Given the description of an element on the screen output the (x, y) to click on. 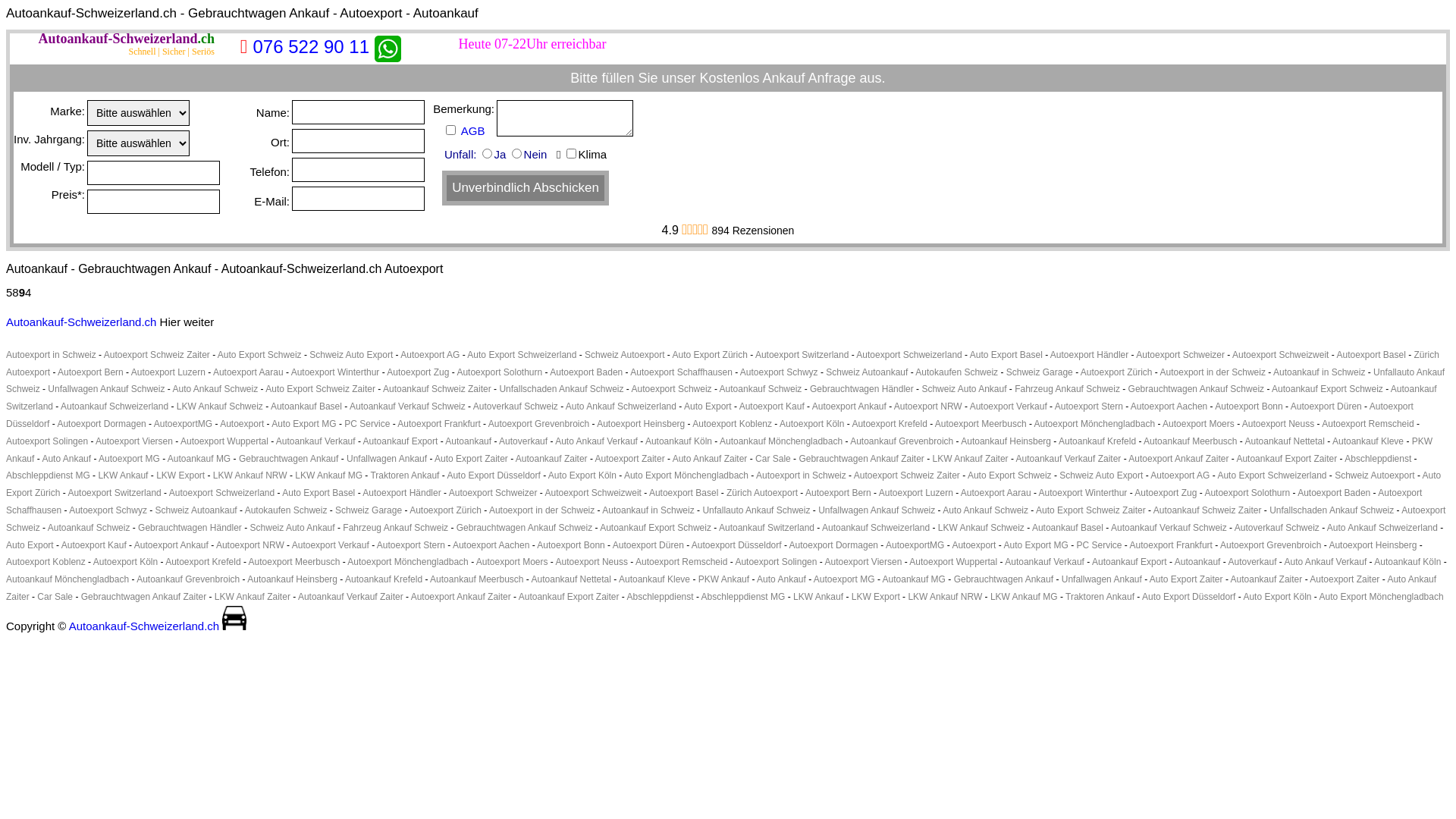
Autoankauf Switzerland Element type: text (766, 527)
Auto Ankauf Schweiz Element type: text (214, 388)
Autoexport Krefeld Element type: text (888, 423)
Schweiz Auto Ankauf Element type: text (292, 527)
Autoexport Switzerland Element type: text (801, 354)
Car Sale Element type: text (54, 596)
Schweiz Autoankauf Element type: text (866, 372)
Autoexport Schweiz Element type: text (671, 388)
LKW Ankauf Element type: text (122, 475)
Auto Export Basel Element type: text (1005, 354)
Autoexport Schweizer Element type: text (1179, 354)
Autoexport Remscheid Element type: text (1367, 423)
Autoankauf Nettetal Element type: text (571, 579)
Autoexport Switzerland Element type: text (113, 492)
Auto Export Zaiter Element type: text (1186, 579)
Autoexport Ankauf Element type: text (849, 406)
Autoankauf Verkauf Zaiter Element type: text (350, 596)
Autoexport NRW Element type: text (250, 544)
Autoankauf Element type: text (468, 441)
Schweiz Autoankauf Element type: text (196, 510)
Car Sale Element type: text (772, 458)
Autoexport Element type: text (241, 423)
Autoankauf Export Element type: text (1129, 561)
Autoexport Kauf Element type: text (771, 406)
Auto Ankauf Schweiz Element type: text (985, 510)
Autoexport Winterthur Element type: text (335, 372)
Autoexport Schweizer Element type: text (492, 492)
LKW Export Element type: text (180, 475)
Autoexport Aarau Element type: text (995, 492)
Autoexport Schaffhausen Element type: text (681, 372)
Autoankauf Kleve Element type: text (654, 579)
LKW Ankauf NRW Element type: text (250, 475)
Auto Export Basel Element type: text (318, 492)
Auto Ankauf Zaiter Element type: text (709, 458)
LKW Ankauf Schweiz Element type: text (219, 406)
Autoexport Baden Element type: text (1333, 492)
Autoverkauf Element type: text (522, 441)
Autoankauf Meerbusch Element type: text (1189, 441)
LKW Ankauf MG Element type: text (1023, 596)
Schweiz Auto Ankauf Element type: text (963, 388)
Auto Ankauf Element type: text (66, 458)
Auto Export Schweiz Element type: text (259, 354)
Autoankauf Schweiz Element type: text (760, 388)
Autoankauf Export Zaiter Element type: text (568, 596)
Autoankauf Export Zaiter Element type: text (1286, 458)
Autoexport Schweiz Zaiter Element type: text (906, 475)
Autoankauf Verkauf Element type: text (315, 441)
Autoexport Bonn Element type: text (570, 544)
PKW Ankauf Element type: text (719, 450)
Autoankauf Heinsberg Element type: text (1005, 441)
Auto Export Element type: text (29, 544)
LKW Ankauf NRW Element type: text (944, 596)
Autoankauf Meerbusch Element type: text (476, 579)
Autoexport Koblenz Element type: text (45, 561)
Autoexport Verkauf Element type: text (330, 544)
Autoexport Element type: text (973, 544)
Autoexport Aarau Element type: text (248, 372)
Autoexport in der Schweiz Element type: text (541, 510)
Auto Export Schweiz Zaiter Element type: text (320, 388)
Unfallschaden Ankauf Schweiz Element type: text (1331, 510)
Autoankauf Verkauf Element type: text (1044, 561)
Gebrauchtwagen Ankauf Element type: text (288, 458)
Autoexport Solothurn Element type: text (1246, 492)
Autoankauf Verkauf Zaiter Element type: text (1068, 458)
Autoankauf Export Element type: text (400, 441)
Autoankauf Schweizerland Element type: text (875, 527)
Auto Export Zaiter Element type: text (471, 458)
Autoankauf-Schweizerland.ch Element type: text (81, 321)
Unfallwagen Ankauf Schweiz Element type: text (105, 388)
Auto Ankauf Verkauf Element type: text (596, 441)
Autoexport Schweiz Element type: text (725, 519)
Autoexport Wuppertal Element type: text (953, 561)
Autoverkauf Element type: text (1251, 561)
Autoexport Neuss Element type: text (591, 561)
Autoankauf Schweiz Zaiter Element type: text (1207, 510)
Auto Ankauf Schweizerland Element type: text (1382, 527)
Schweiz Auto Export Element type: text (350, 354)
Autoankauf Kleve Element type: text (1367, 441)
Autoexport Frankfurt Element type: text (438, 423)
Autoankauf Krefeld Element type: text (383, 579)
Autoexport Stern Element type: text (410, 544)
PKW Ankauf Element type: text (723, 579)
Autoexport Schweizerland Element type: text (221, 492)
Autoexport in Schweiz Element type: text (801, 475)
Gebrauchtwagen Ankauf Schweiz Element type: text (524, 527)
Autoexport Solothurn Element type: text (499, 372)
AutoexportMG Element type: text (182, 423)
Autoankauf MG Element type: text (913, 579)
Autoexport Viersen Element type: text (133, 441)
Autoankauf Zaiter Element type: text (1266, 579)
Unfallwagen Ankauf Schweiz Element type: text (876, 510)
Schweiz Autoexport Element type: text (1374, 475)
Autoexport Viersen Element type: text (862, 561)
Autoankauf in Schweiz Element type: text (1319, 372)
Auto Ankauf Schweizerland Element type: text (620, 406)
Unfallauto Ankauf Schweiz Element type: text (725, 381)
Auto Export Schweiz Zaiter Element type: text (1090, 510)
Autoverkauf Schweiz Element type: text (515, 406)
Autoexport Schweizweit Element type: text (1280, 354)
Autoexport Winterthur Element type: text (1082, 492)
Autoexport Ankauf Zaiter Element type: text (461, 596)
Auto Ankauf Verkauf Element type: text (1325, 561)
Autoankauf Schweiz Element type: hover (234, 617)
Autoankauf in Schweiz Element type: text (647, 510)
Autoexport Meerbusch Element type: text (294, 561)
Schweiz Garage Element type: text (368, 510)
Autoankauf-Schweizerland.ch Element type: text (144, 625)
Autoankauf Element type: text (1197, 561)
Autoexport Aachen Element type: text (1168, 406)
Autoexport Schweizerland Element type: text (908, 354)
Schweiz Garage Element type: text (1039, 372)
Autoankauf Schweiz Zaiter Element type: text (436, 388)
Abschleppdienst Element type: text (1377, 458)
Autoankauf Heinsberg Element type: text (292, 579)
Autoankauf Basel Element type: text (1067, 527)
Autoexport Moers Element type: text (512, 561)
Autoankauf Schweizerland Element type: text (114, 406)
Fahrzeug Ankauf Schweiz Element type: text (395, 527)
Autoexport Schaffhausen Element type: text (713, 501)
Autoexport Solingen Element type: text (775, 561)
Autoexport in Schweiz Element type: text (51, 354)
LKW Ankauf Schweiz Element type: text (981, 527)
Autoexport Kauf Element type: text (93, 544)
Autoankauf Export Schweiz Element type: text (655, 527)
Autoankauf Krefeld Element type: text (1096, 441)
Autoverkauf Schweiz Element type: text (1276, 527)
PC Service Element type: text (1099, 544)
Autoexport Bonn Element type: text (1248, 406)
Autoexport Aachen Element type: text (490, 544)
Schweiz Auto Export Element type: text (1100, 475)
Autoexport Schweiz Zaiter Element type: text (156, 354)
Auto Export MG Element type: text (303, 423)
LKW Ankauf Element type: text (818, 596)
AutoexportMG Element type: text (914, 544)
Autoankauf Verkauf Schweiz Element type: text (407, 406)
Autoankauf Grevenbroich Element type: text (901, 441)
Autoexport Heinsberg Element type: text (640, 423)
PC Service Element type: text (366, 423)
Autoankauf Zaiter Element type: text (551, 458)
Autoexport Zaiter Element type: text (1344, 579)
Auto Ankauf Zaiter Element type: text (721, 588)
Autoexport Luzern Element type: text (168, 372)
Autoexport Ankauf Element type: text (171, 544)
Autoexport MG Element type: text (844, 579)
Autoexport Basel Element type: text (683, 492)
Autoexport Stern Element type: text (1088, 406)
Autoexport AG Element type: text (1179, 475)
Auto Export Schweiz Element type: text (1009, 475)
Traktoren Ankauf Element type: text (404, 475)
Autoexport in der Schweiz Element type: text (1212, 372)
Autoexport Dormagen Element type: text (100, 423)
Autoexport Verkauf Element type: text (1008, 406)
AGB    Element type: text (476, 130)
Unfallwagen Ankauf Element type: text (1101, 579)
Autoexport Grevenbroich Element type: text (538, 423)
Autoankauf Export Schweiz Element type: text (1327, 388)
Autoexport Basel Element type: text (1370, 354)
Autoexport NRW Element type: text (928, 406)
Autoankauf Nettetal Element type: text (1284, 441)
LKW Ankauf Zaiter Element type: text (252, 596)
Unfallauto Ankauf Schweiz Element type: text (755, 510)
Autoexport Zaiter Element type: text (630, 458)
Autoexport Dormagen Element type: text (833, 544)
Autoexport Ankauf Zaiter Element type: text (1178, 458)
Autoexport Moers Element type: text (1198, 423)
076 522 90 11 Element type: text (311, 46)
Gebrauchtwagen Ankauf Schweiz Element type: text (1196, 388)
Autoexport Heinsberg Element type: text (1372, 544)
Autoankauf Grevenbroich Element type: text (187, 579)
Autoankauf Schweiz Element type: text (88, 527)
Fahrzeug Ankauf Schweiz Element type: text (1067, 388)
Abschleppdienst Element type: text (660, 596)
Autoexport Remscheid Element type: text (681, 561)
Autoankauf MG Element type: text (198, 458)
Autoexport Schwyz Element type: text (779, 372)
Autoankauf Switzerland Element type: text (721, 397)
Autoexport Bern Element type: text (90, 372)
Auto Export MG Element type: text (1035, 544)
Autoexport AG Element type: text (429, 354)
Autoankauf Verkauf Schweiz Element type: text (1168, 527)
LKW Ankauf Zaiter Element type: text (970, 458)
Autoexport Koblenz Element type: text (731, 423)
LKW Export Element type: text (875, 596)
Autoexport Luzern Element type: text (915, 492)
Abschleppdienst MG Element type: text (743, 596)
Auto Ankauf Element type: text (781, 579)
Autoankauf Basel Element type: text (306, 406)
Autoexport Baden Element type: text (585, 372)
Unfallwagen Ankauf Element type: text (386, 458)
Autoexport Bern Element type: text (838, 492)
Autokaufen Schweiz Element type: text (956, 372)
Autoankauf-Schweizerland.ch Element type: text (125, 38)
Autoexport Meerbusch Element type: text (980, 423)
Autokaufen Schweiz Element type: text (285, 510)
Traktoren Ankauf Element type: text (1099, 596)
Autoexport MG Element type: text (129, 458)
Autoexport Zug Element type: text (417, 372)
Autoexport Neuss Element type: text (1278, 423)
Autoexport Schweizweit Element type: text (592, 492)
Auto Export Element type: text (707, 406)
Autoexport Solingen Element type: text (46, 441)
Autoexport Frankfurt Element type: text (1170, 544)
Autoexport Wuppertal Element type: text (224, 441)
Autoexport Krefeld Element type: text (202, 561)
Gebrauchtwagen Ankauf Zaiter Element type: text (143, 596)
Gebrauchtwagen Ankauf Element type: text (1003, 579)
Autoexport Zug Element type: text (1165, 492)
Auto Export Schweizerland Element type: text (1271, 475)
Auto Export Schweizerland Element type: text (521, 354)
Schweiz Autoexport Element type: text (624, 354)
Unverbindlich Abschicken Element type: text (525, 187)
Autoexport Grevenbroich Element type: text (1270, 544)
Abschleppdienst MG Element type: text (48, 475)
Unfallschaden Ankauf Schweiz Element type: text (560, 388)
Gebrauchtwagen Ankauf Zaiter Element type: text (860, 458)
LKW Ankauf MG Element type: text (328, 475)
Autoexport Schwyz Element type: text (108, 510)
